Given the description of an element on the screen output the (x, y) to click on. 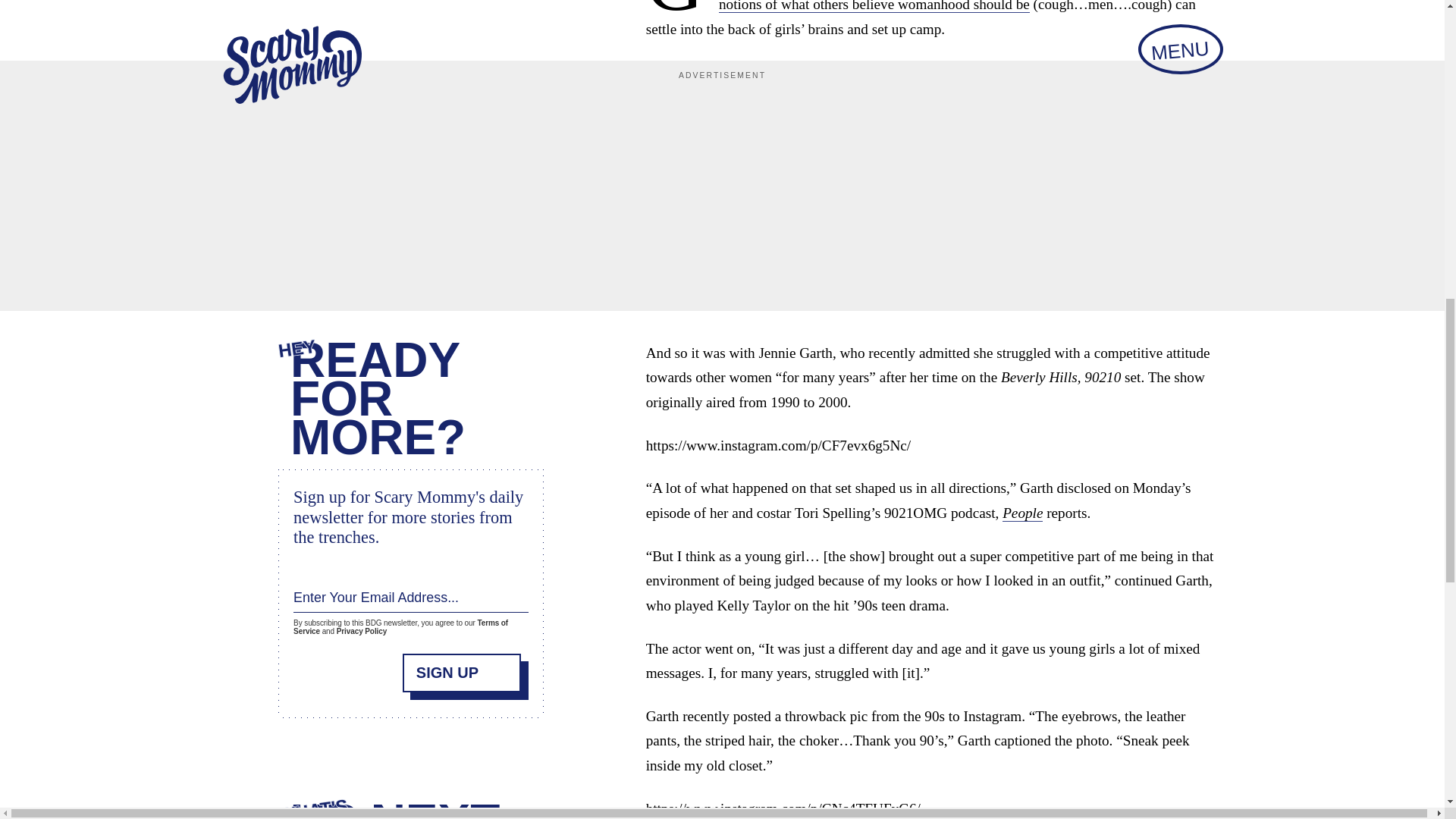
Privacy Policy (361, 629)
People (1022, 513)
SIGN UP (462, 669)
Terms of Service (401, 624)
